Given the description of an element on the screen output the (x, y) to click on. 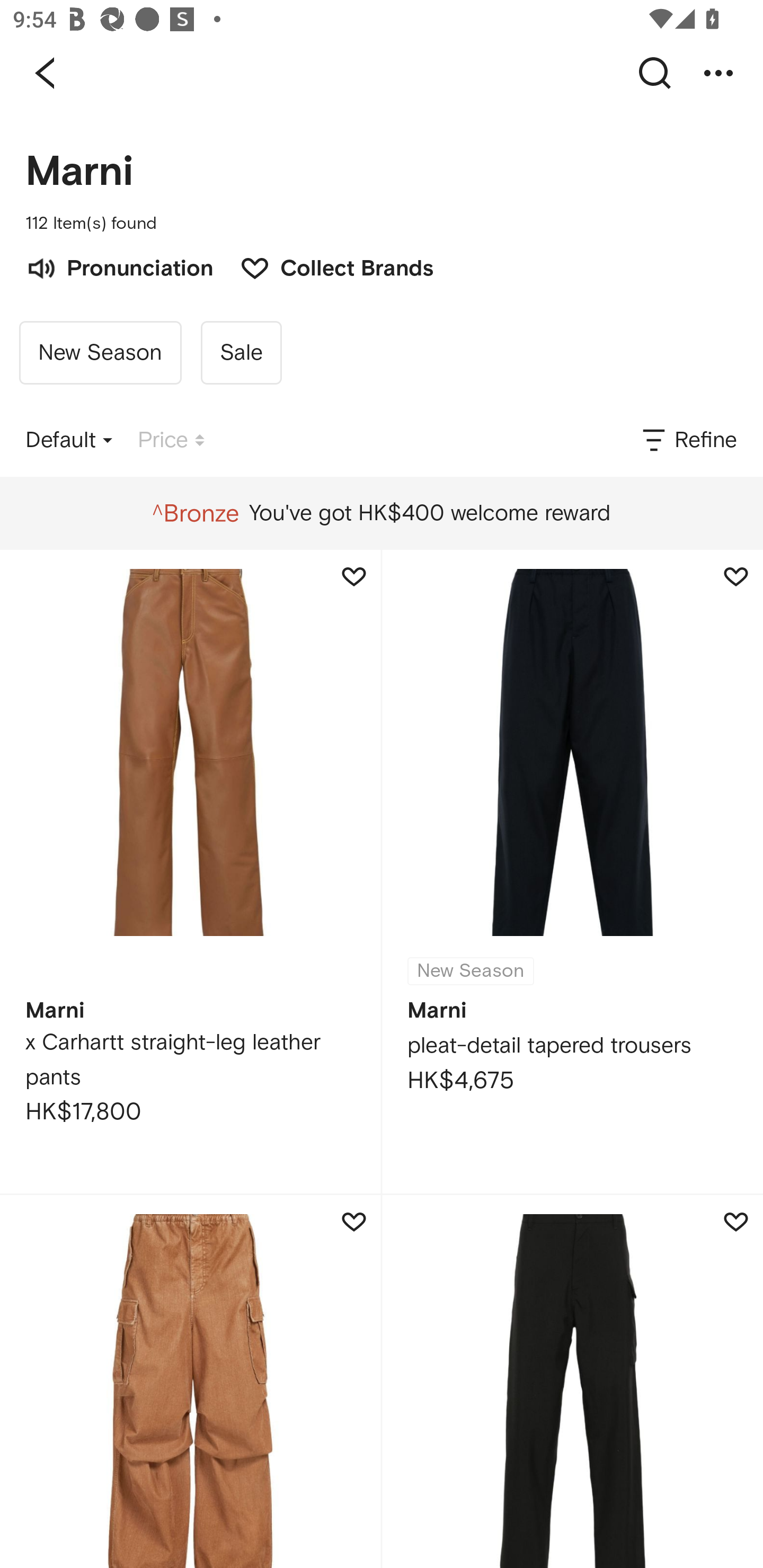
Pronunciation (119, 266)
Collect Brands (327, 266)
New Season (100, 352)
Sale (240, 352)
Default (68, 440)
Price (171, 440)
Refine (688, 440)
You've got HK$400 welcome reward (381, 513)
